Given the description of an element on the screen output the (x, y) to click on. 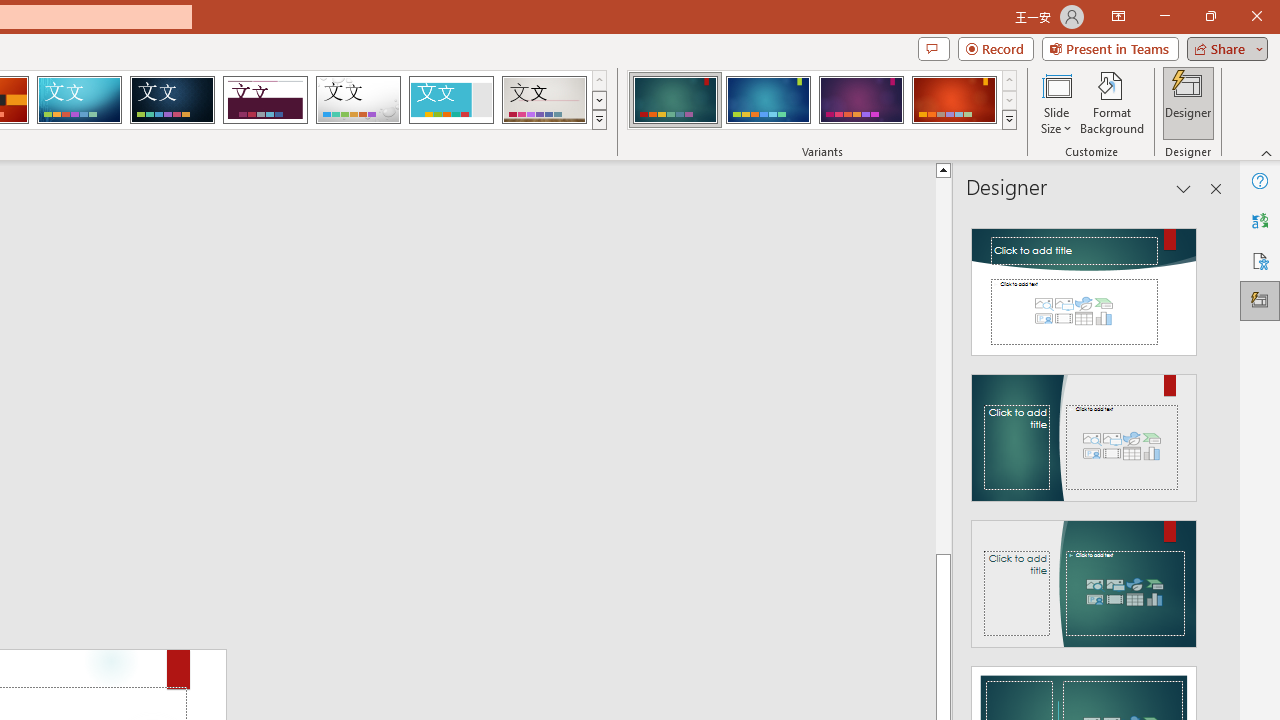
Variants (1009, 120)
Slide Size (1056, 102)
Ion Variant 3 (861, 100)
Recommended Design: Design Idea (1083, 286)
Themes (598, 120)
Design Idea (1083, 577)
Damask (171, 100)
Circuit (79, 100)
Dividend (265, 100)
Format Background (1111, 102)
